Given the description of an element on the screen output the (x, y) to click on. 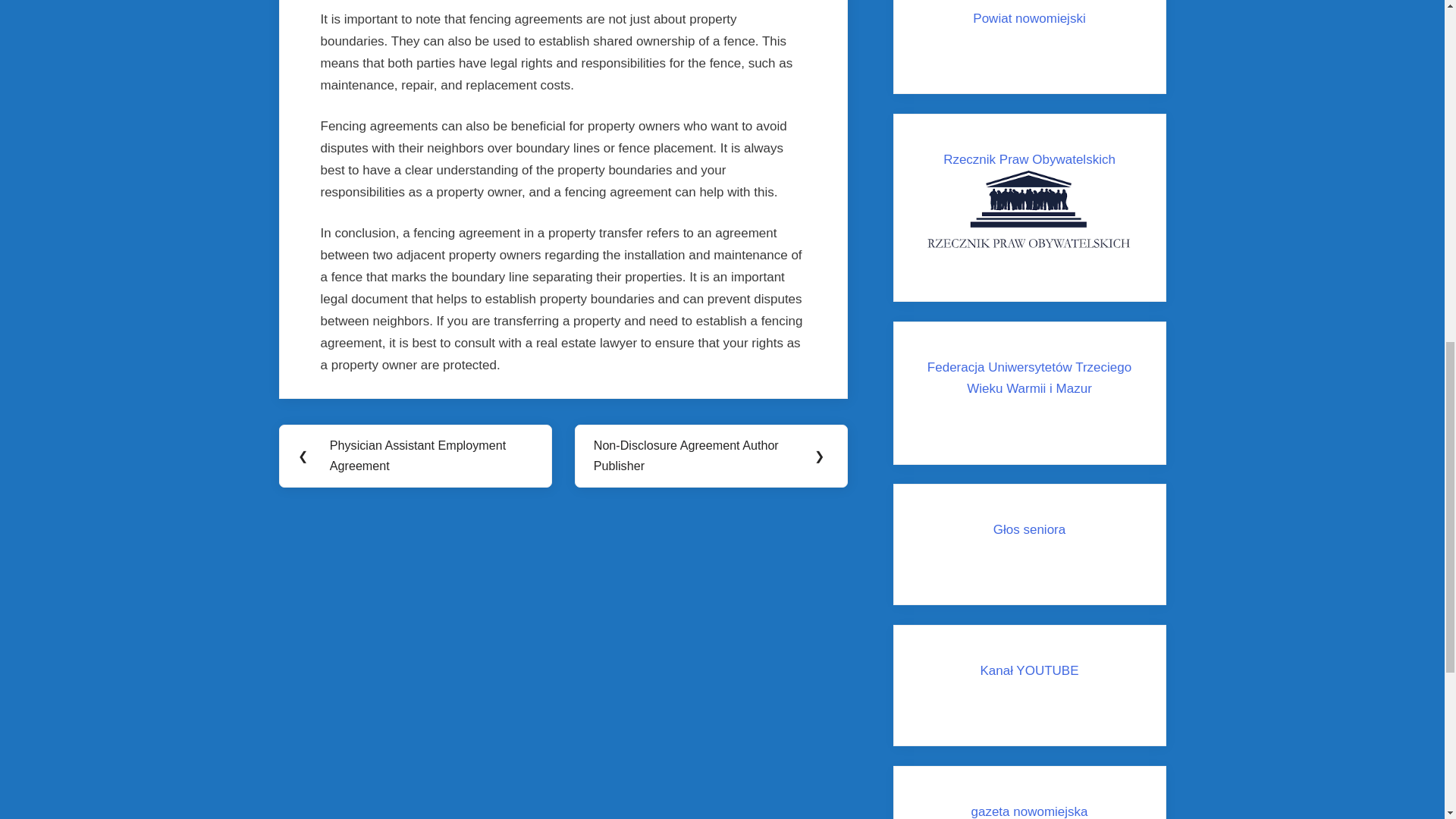
Rzecznik Praw Obywatelskich (1029, 203)
Powiat nowomiejski (1028, 29)
gazeta nowomiejska (1029, 811)
